Given the description of an element on the screen output the (x, y) to click on. 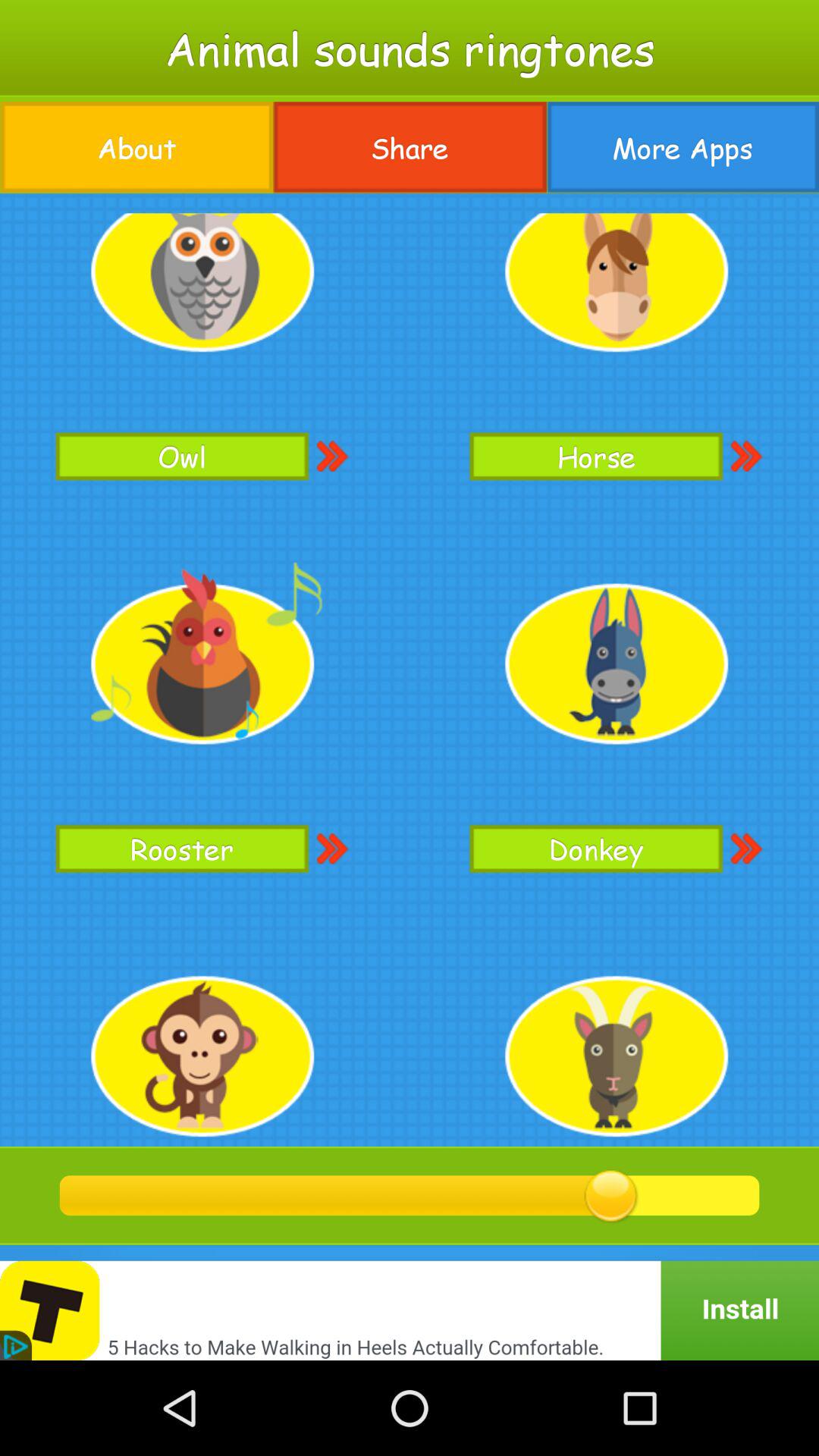
click the item at the center (409, 669)
